Given the description of an element on the screen output the (x, y) to click on. 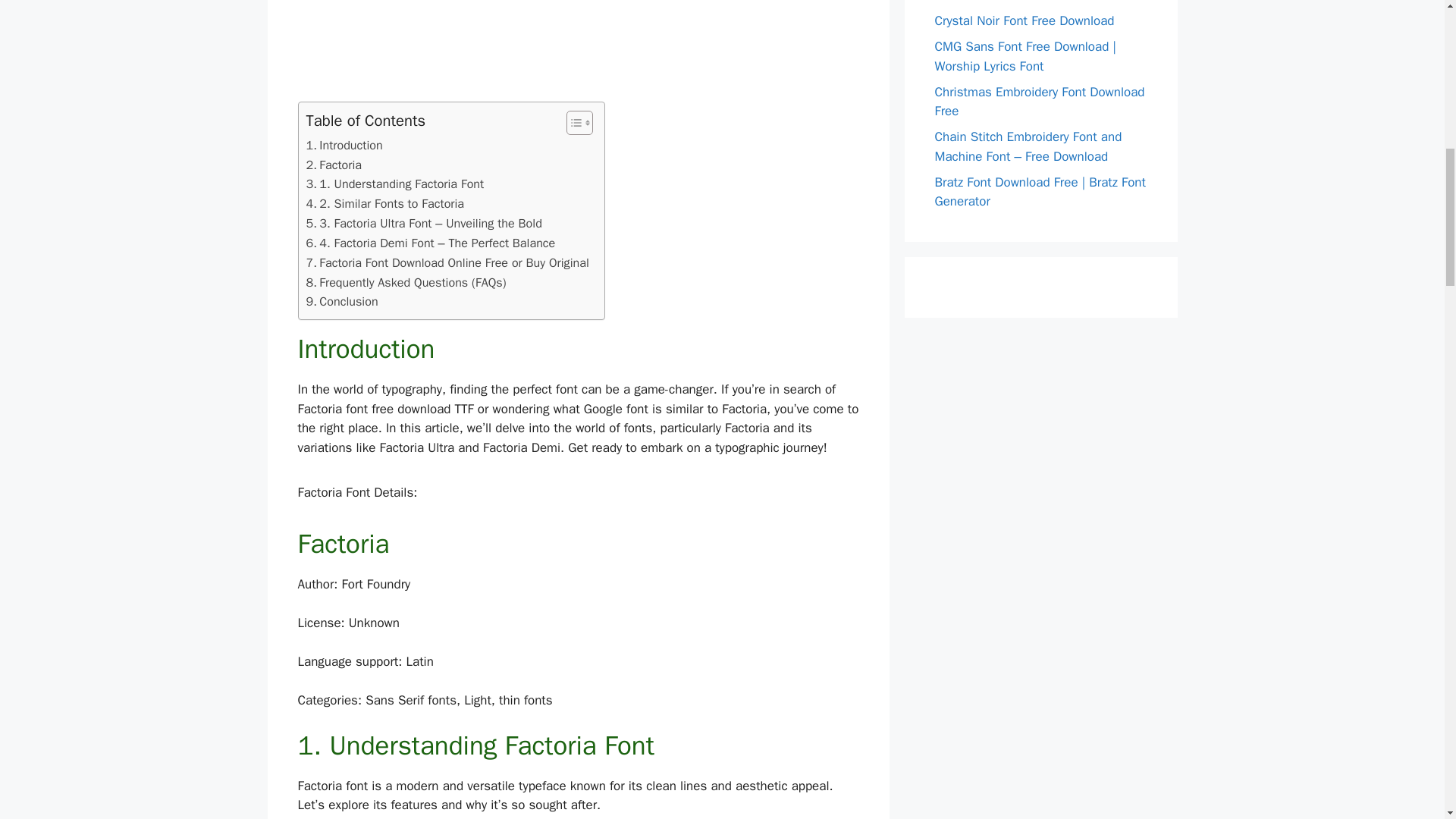
Conclusion (341, 301)
Conclusion (341, 301)
Factoria (333, 165)
Christmas Embroidery Font Download Free (1039, 100)
Introduction (343, 145)
1. Understanding Factoria Font (394, 184)
2. Similar Fonts to Factoria (384, 203)
2. Similar Fonts to Factoria (384, 203)
Introduction (343, 145)
Factoria (333, 165)
